Given the description of an element on the screen output the (x, y) to click on. 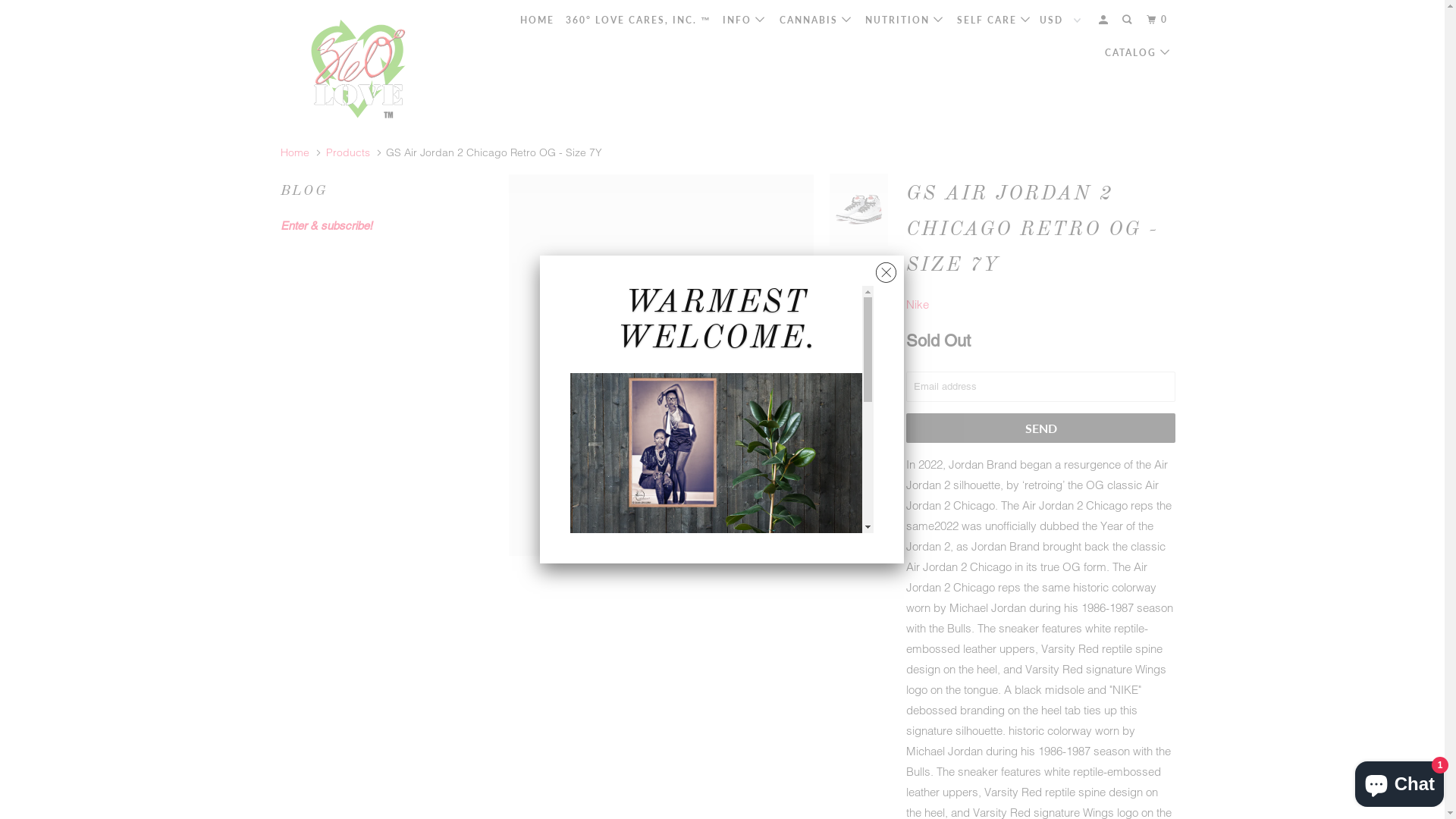
Close Element type: hover (885, 268)
0 Element type: text (1158, 19)
Search Element type: hover (1128, 19)
Home Element type: text (294, 152)
Products Element type: text (348, 152)
CATALOG Element type: text (1138, 52)
HOME Element type: text (537, 20)
Send Element type: text (1040, 427)
My Account  Element type: hover (1104, 19)
Sign Up Element type: text (822, 791)
SELF CARE Element type: text (994, 19)
Nike Element type: text (917, 304)
INFO Element type: text (744, 19)
Shopify online store chat Element type: hover (1399, 780)
GS Air Jordan 2 Chicago Retro OG - Size 7Y Element type: hover (661, 364)
CANNABIS Element type: text (816, 19)
Enter & subscribe! Element type: text (326, 225)
NUTRITION Element type: text (905, 19)
